Given the description of an element on the screen output the (x, y) to click on. 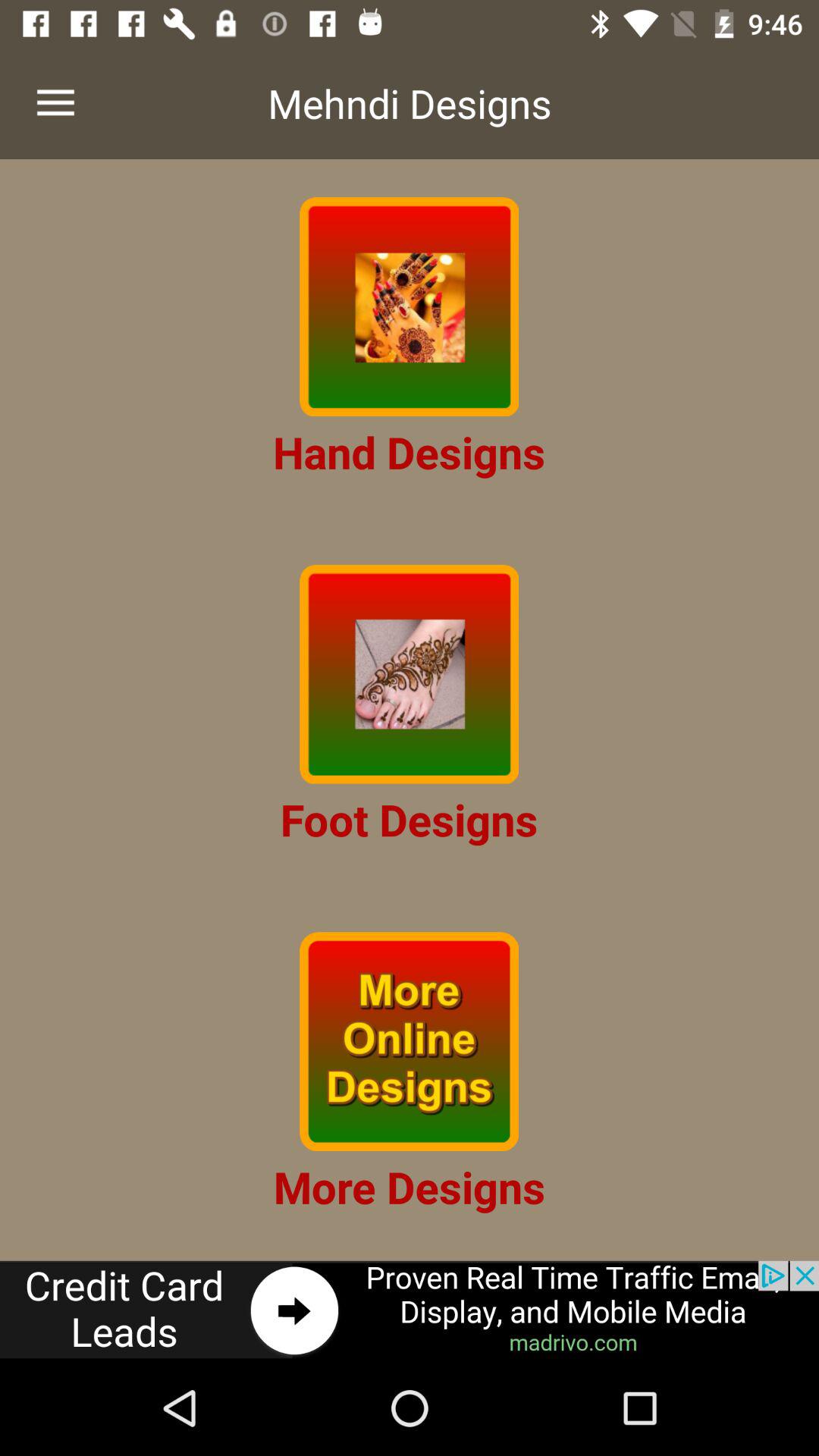
more online designs (408, 1041)
